Given the description of an element on the screen output the (x, y) to click on. 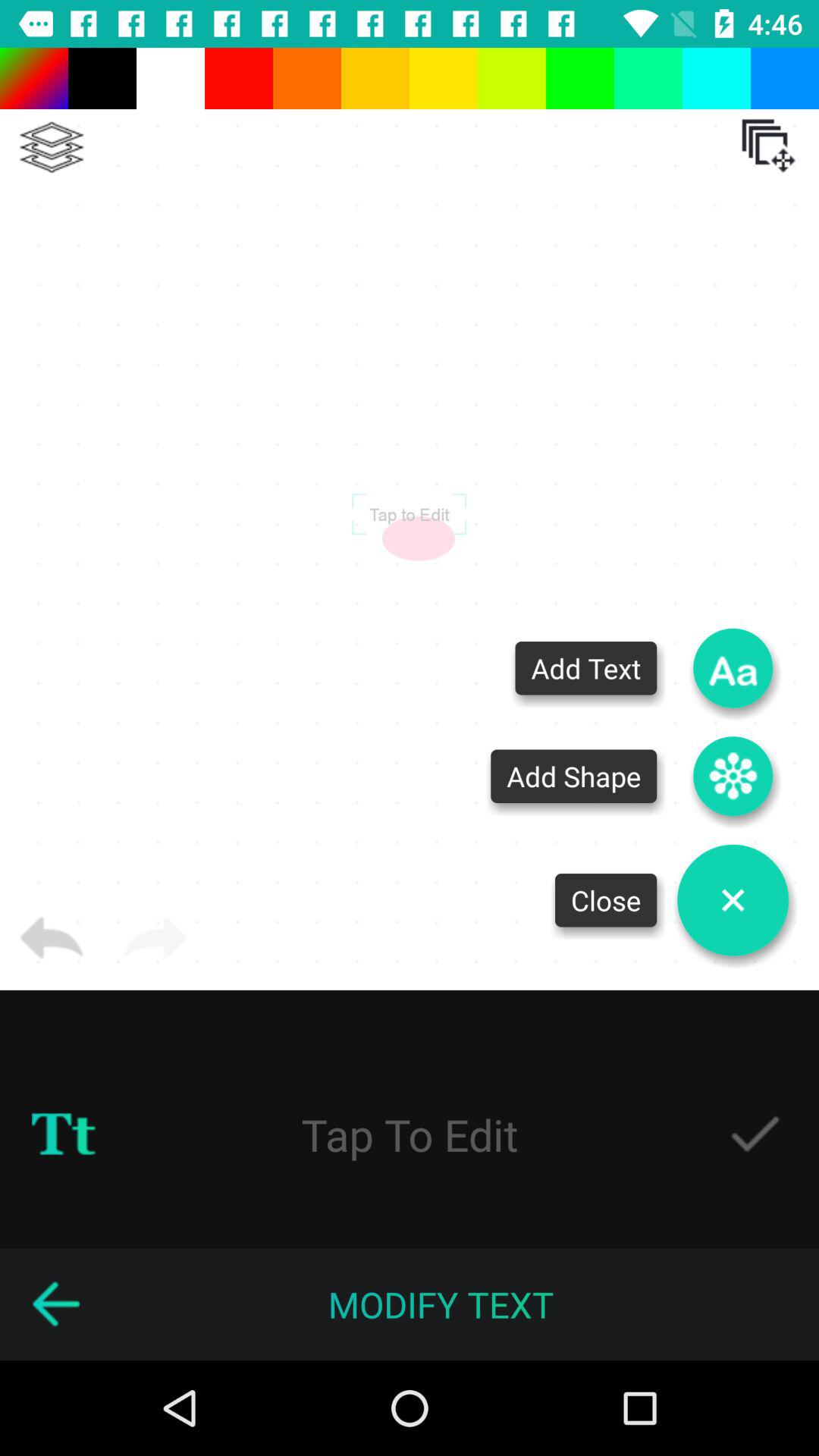
change to uppercase or lowercase (63, 1134)
